Given the description of an element on the screen output the (x, y) to click on. 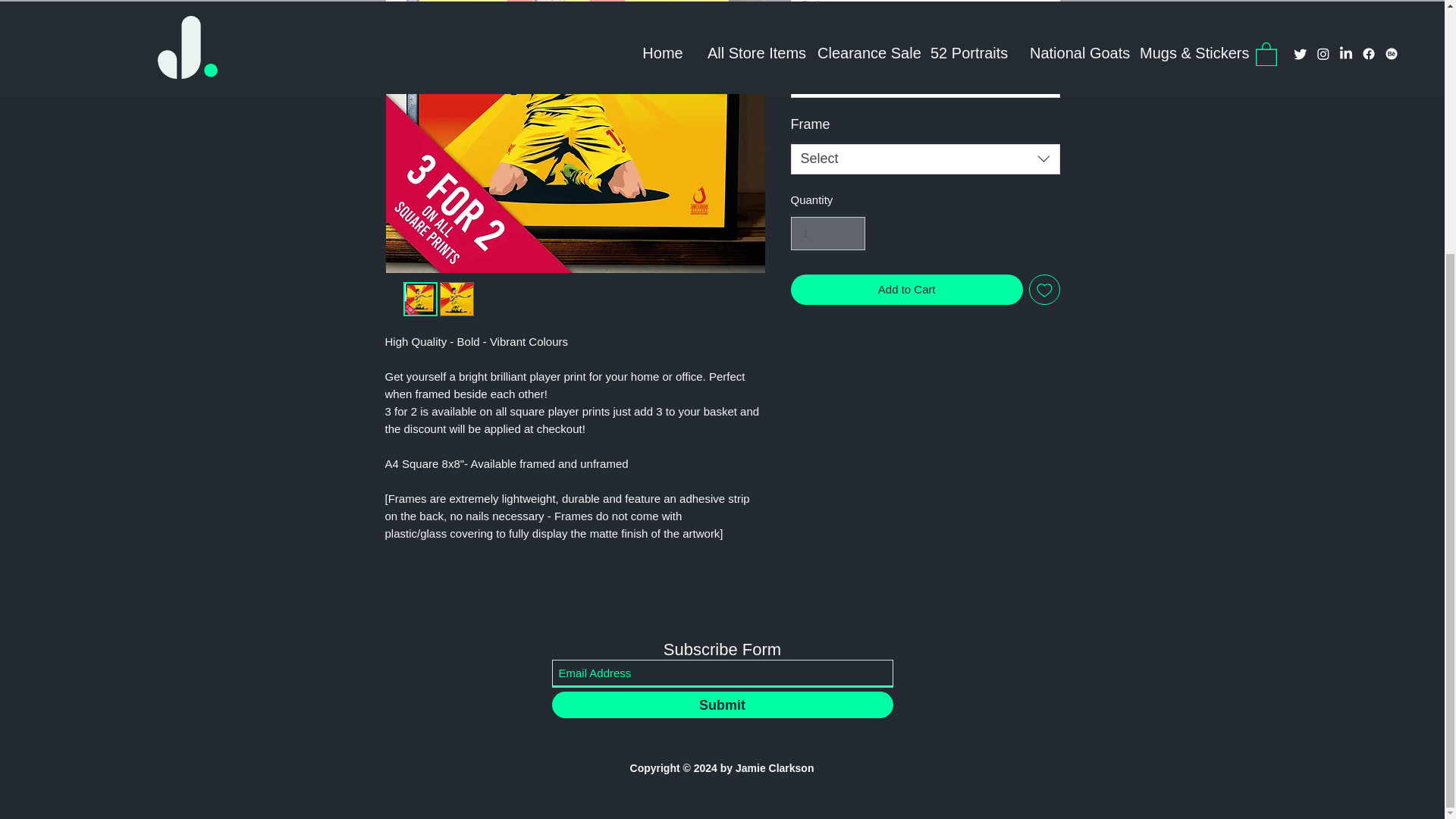
Select (924, 11)
Add to Cart (906, 288)
1 (827, 233)
Liverpool Third (924, 82)
Select (924, 159)
Submit (722, 704)
